Given the description of an element on the screen output the (x, y) to click on. 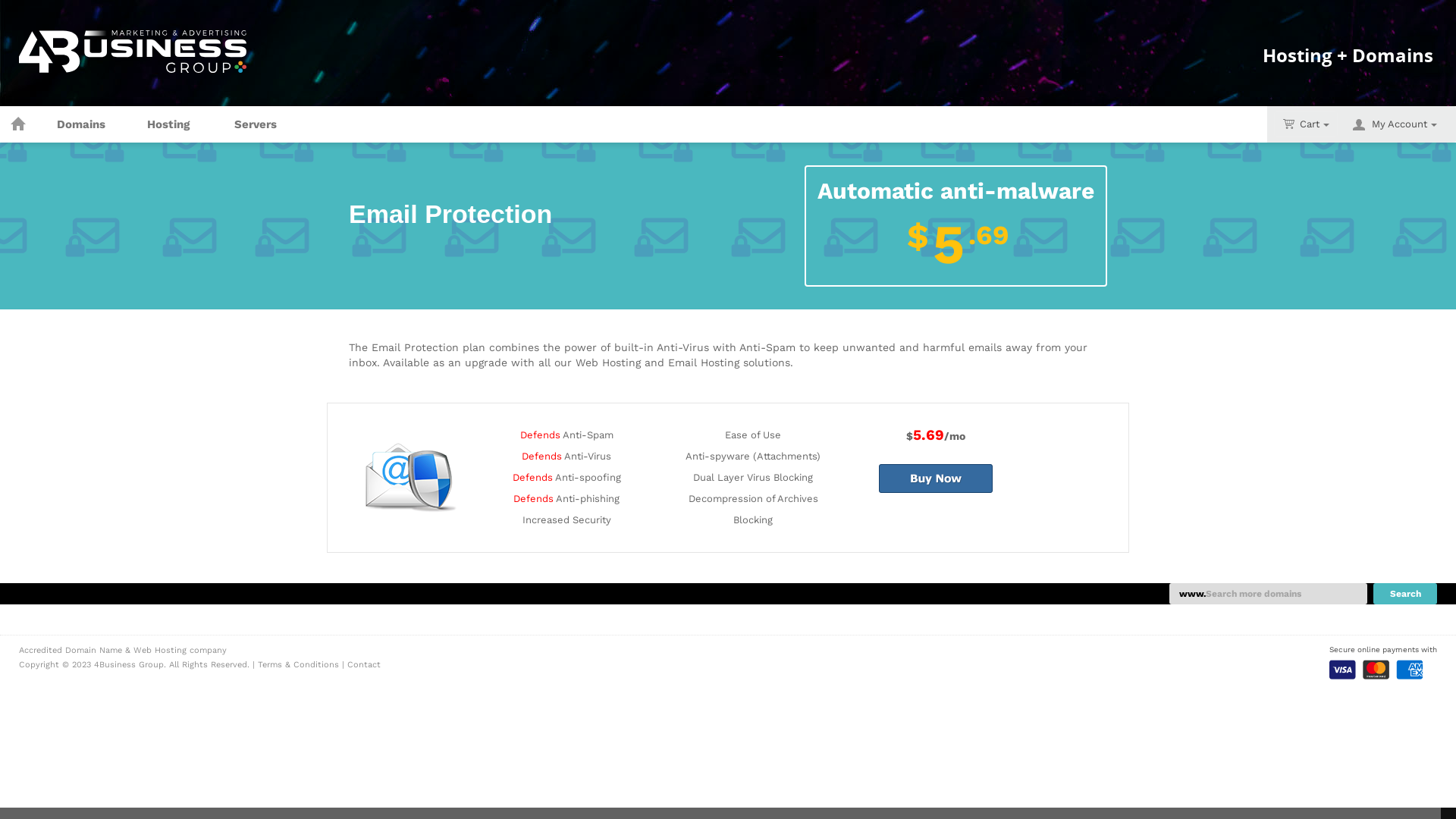
Search Element type: text (1405, 593)
Domains Element type: text (80, 124)
Cart Element type: text (1305, 123)
Hosting + Domains Element type: text (1347, 66)
Terms & Conditions Element type: text (297, 664)
Home Element type: text (18, 124)
Add to cart Element type: text (935, 478)
Hosting Element type: text (168, 124)
Contact Element type: text (363, 664)
Servers Element type: text (255, 124)
